Given the description of an element on the screen output the (x, y) to click on. 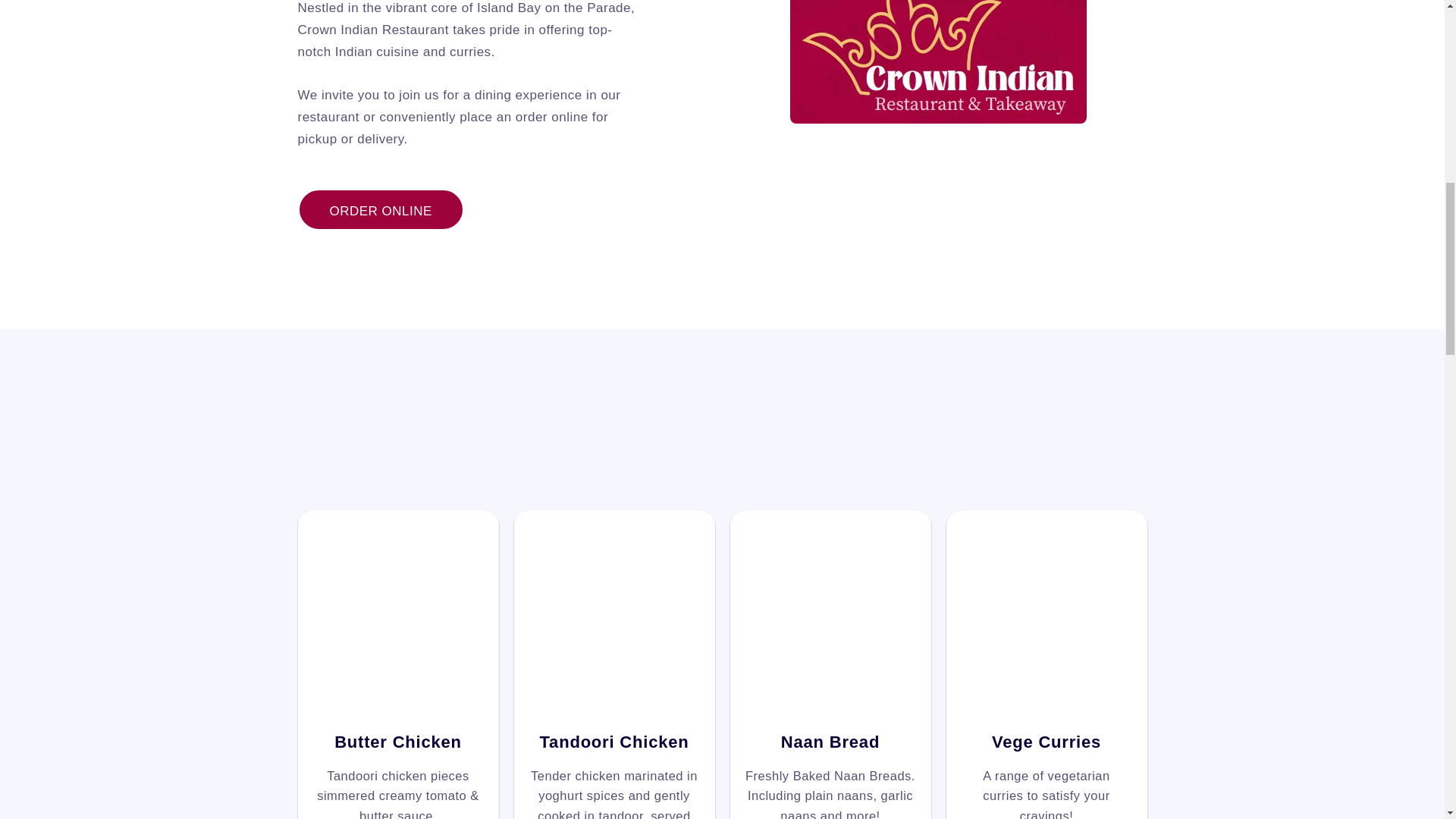
ORDER ONLINE (380, 209)
